Given the description of an element on the screen output the (x, y) to click on. 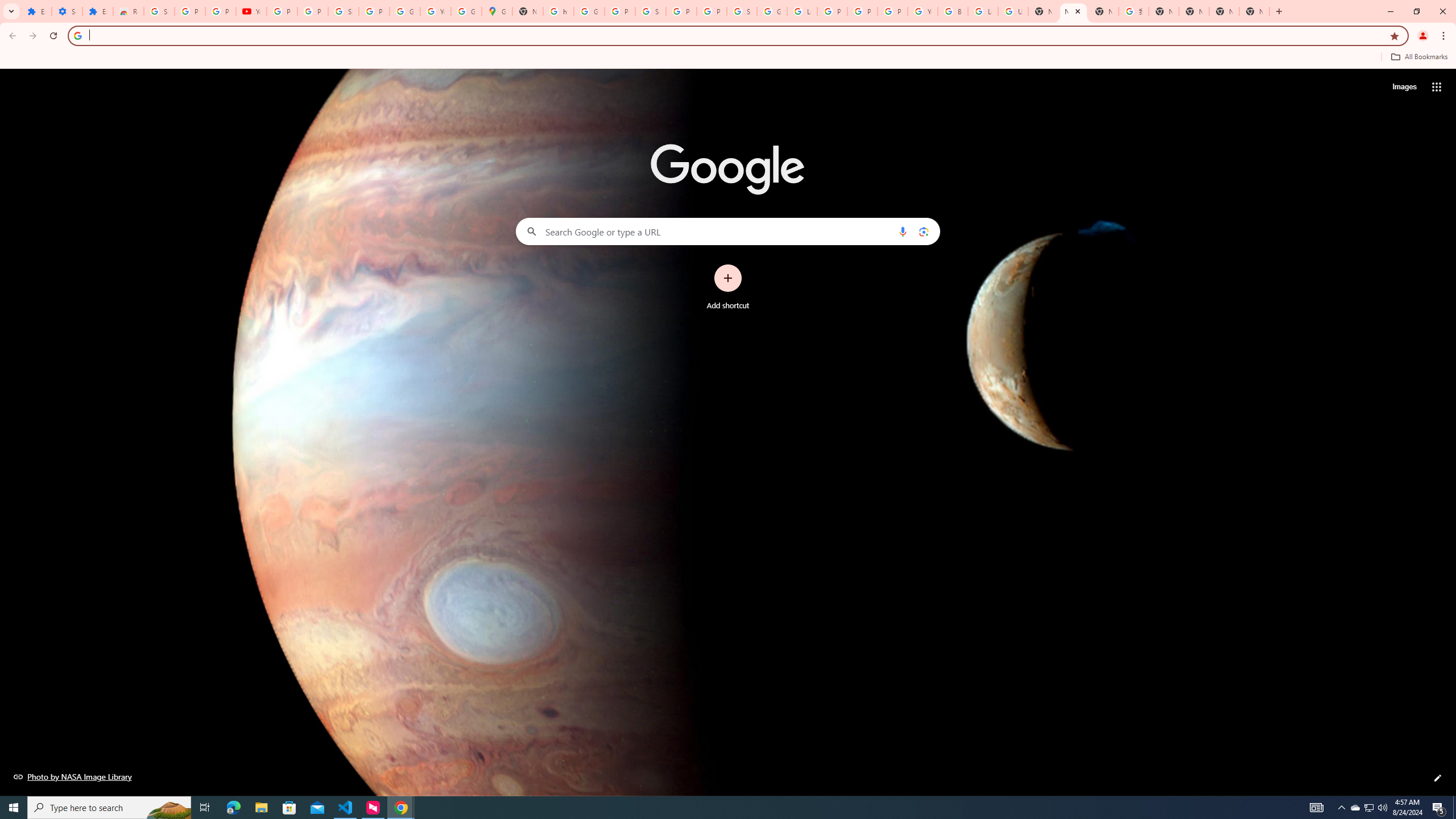
Extensions (36, 11)
YouTube (922, 11)
Sign in - Google Accounts (343, 11)
